Given the description of an element on the screen output the (x, y) to click on. 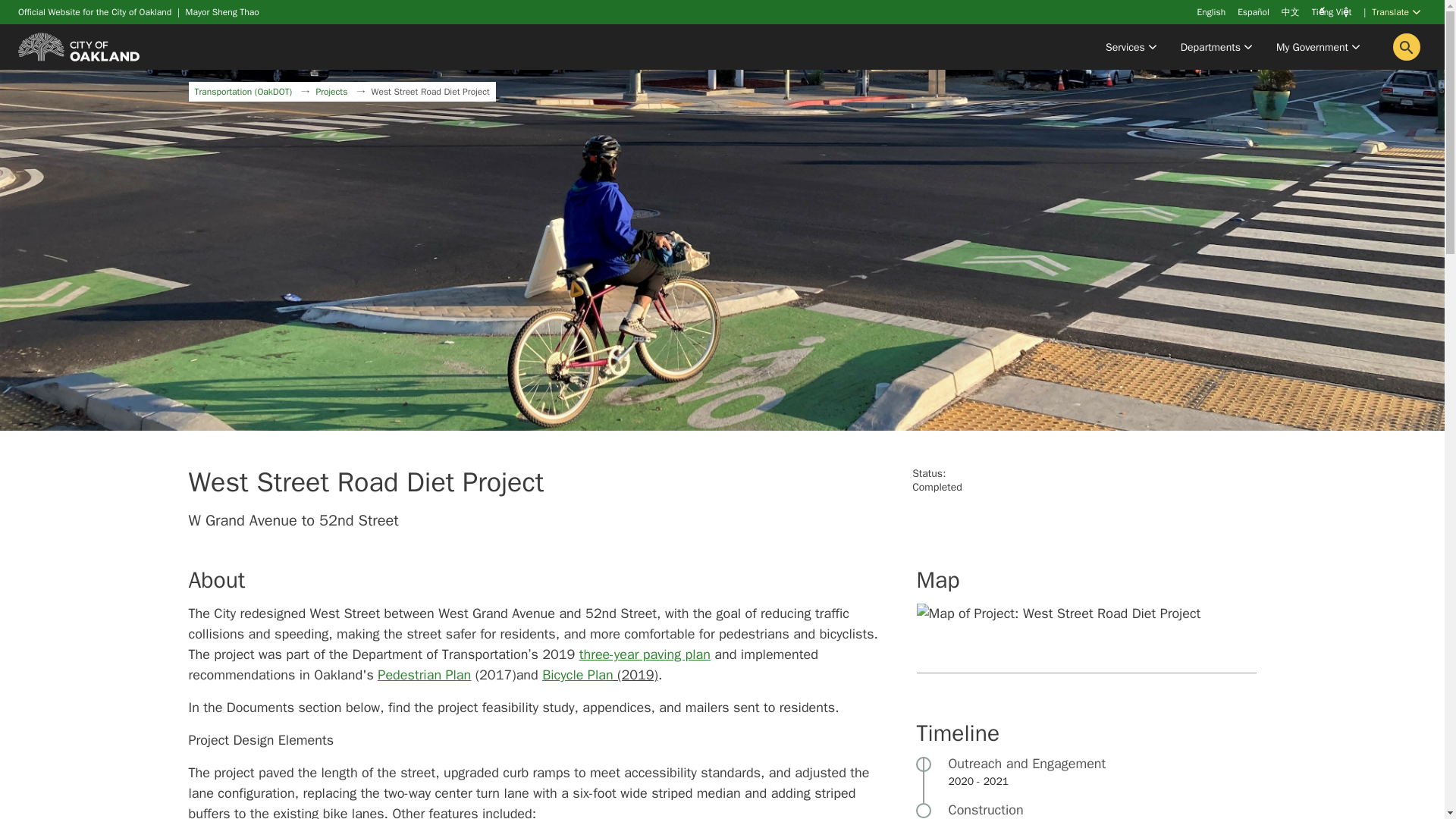
Home (78, 46)
Translate (1395, 13)
Mayor Sheng Thao (222, 11)
Departments (1216, 46)
Services (1131, 46)
English (1210, 11)
